Given the description of an element on the screen output the (x, y) to click on. 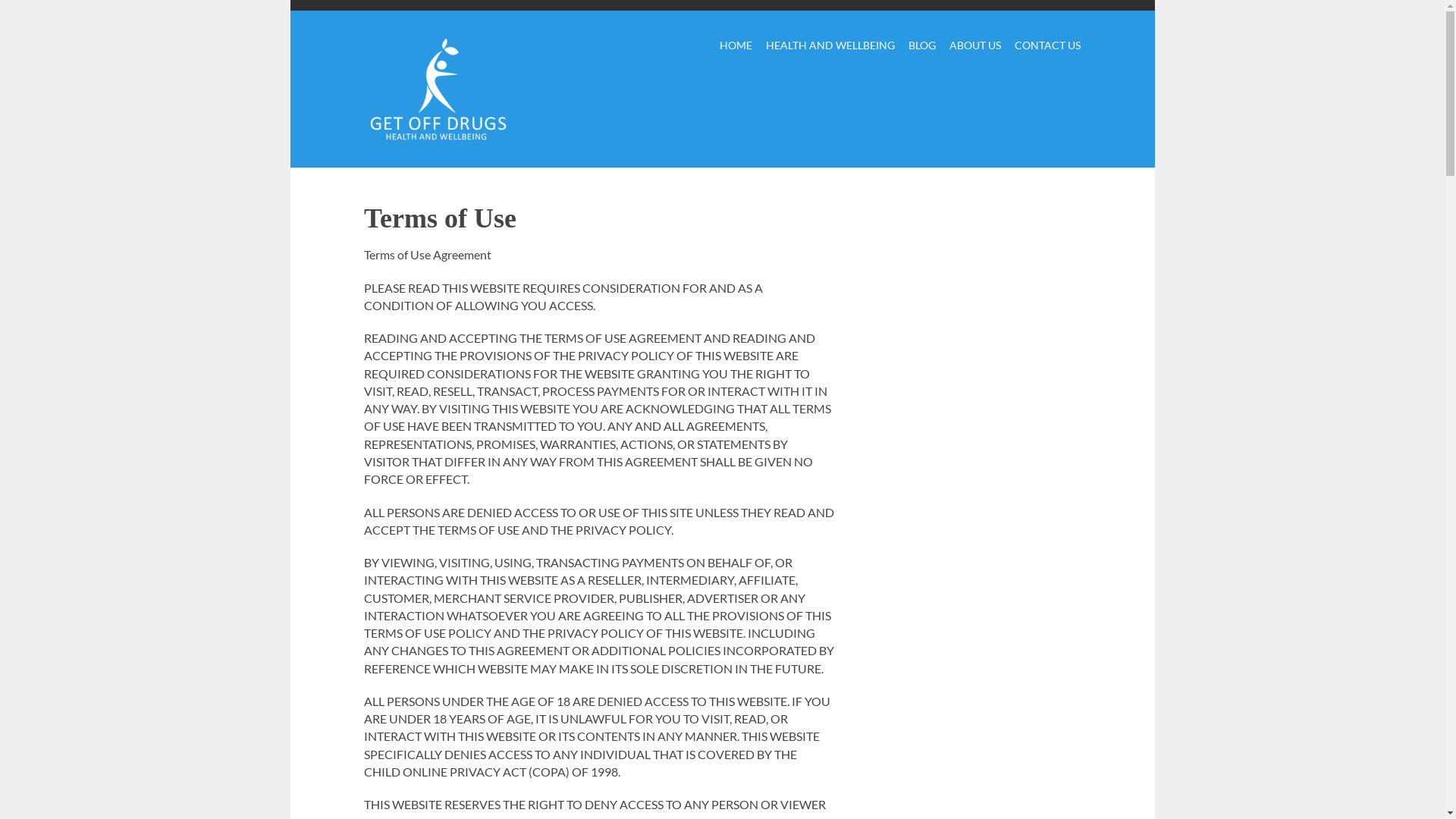
ABOUT US Element type: text (975, 46)
BLOG Element type: text (921, 46)
CONTACT US Element type: text (1047, 46)
HOME Element type: text (735, 46)
HEALTH AND WELLBEING Element type: text (829, 46)
